Given the description of an element on the screen output the (x, y) to click on. 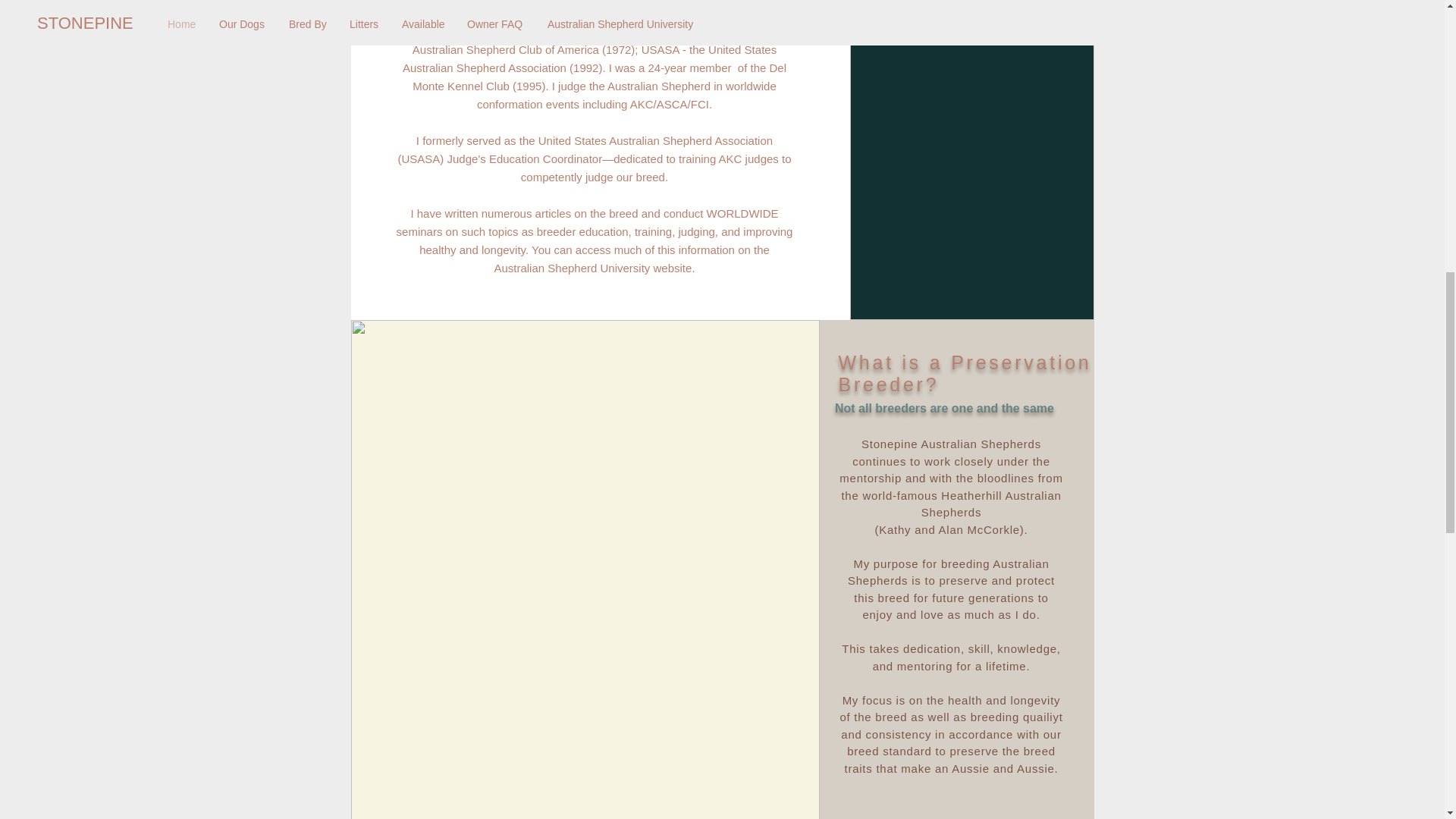
ASCA (754, 31)
Del Monte Kennel Club (599, 76)
USASA (660, 49)
